Given the description of an element on the screen output the (x, y) to click on. 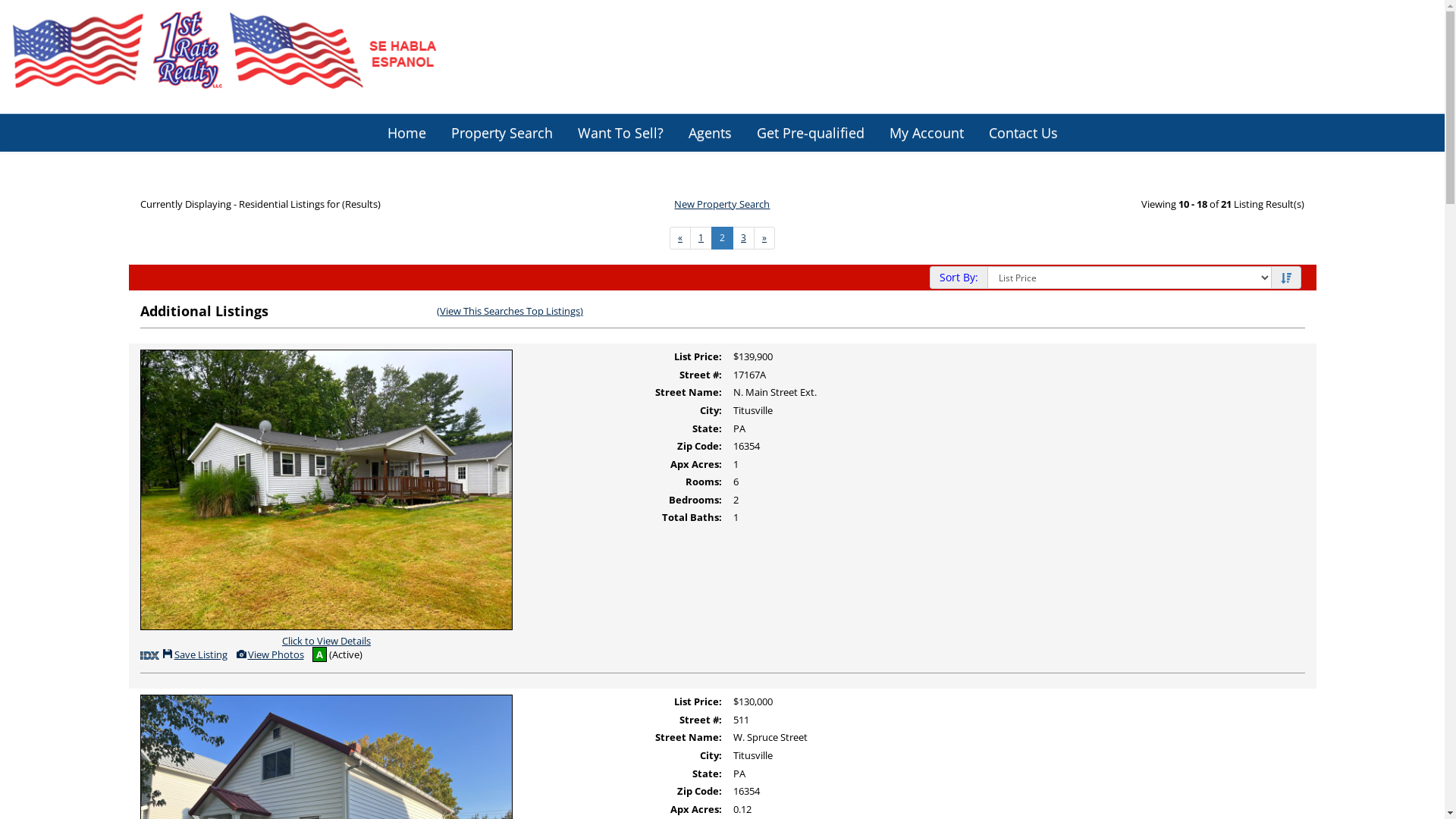
814-432-2900 Element type: text (1261, 49)
3 Element type: text (743, 237)
Get Pre-qualified Element type: text (809, 132)
View Additional Photos
View Photos Element type: text (269, 654)
Property Search Element type: text (501, 132)
Home Element type: text (406, 132)
Save This Listing
Save Listing Element type: text (194, 654)
Contact Us Element type: text (1022, 132)
1 Element type: text (701, 237)
2 Element type: text (722, 237)
Agents Element type: text (709, 132)
Click to View Details Element type: text (325, 565)
(View This Searches Top Listings) Element type: text (509, 310)
My Account Element type: text (926, 132)
New Property Search Element type: text (721, 203)
Sort Descending Element type: hover (1285, 278)
745 Liberty Street, Franklin, PA 16323 Element type: text (1067, 49)
Facebook Element type: text (1367, 49)
Want To Sell? Element type: text (619, 132)
